Given the description of an element on the screen output the (x, y) to click on. 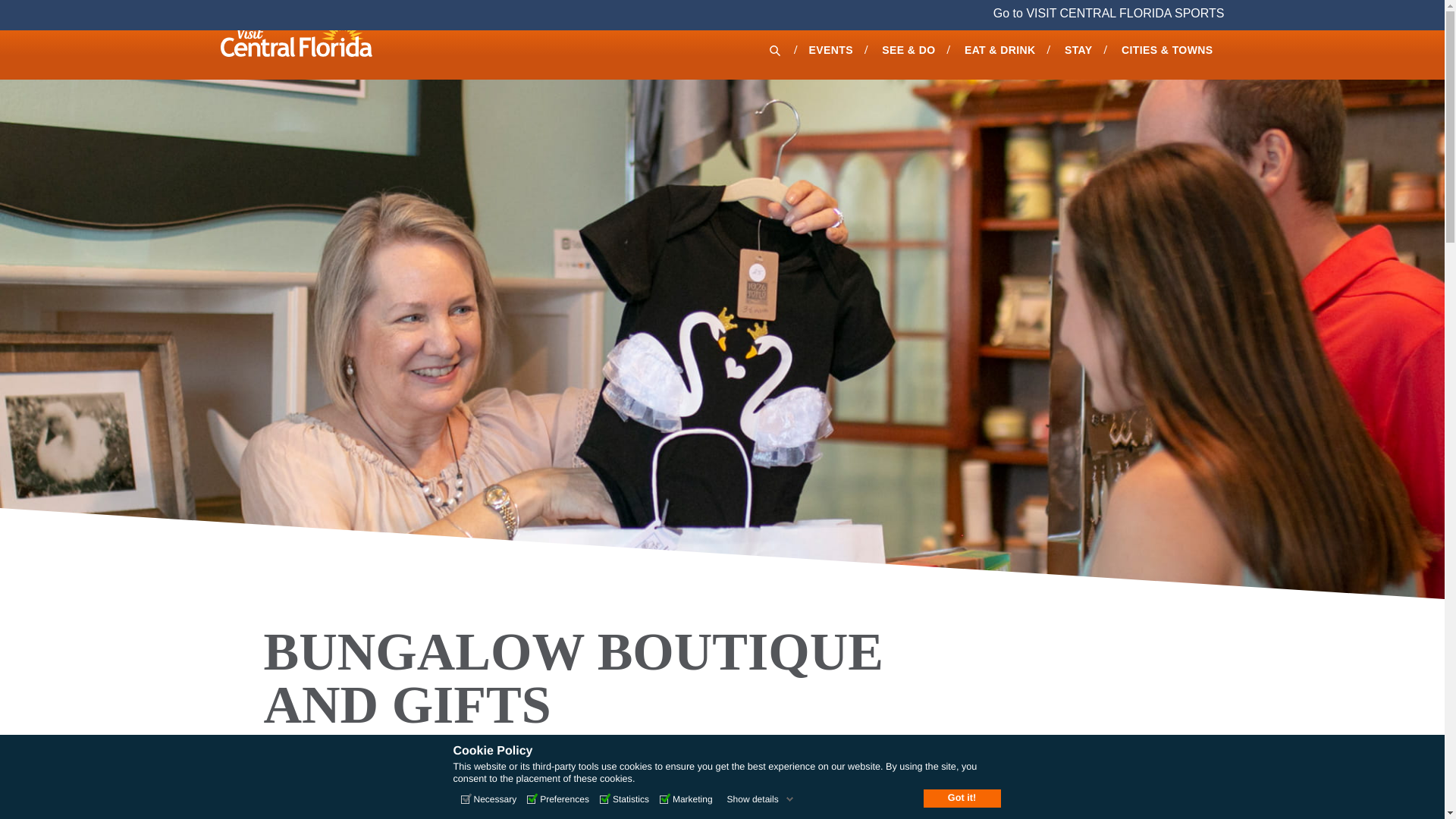
Show details (759, 799)
Got it! (962, 798)
